Given the description of an element on the screen output the (x, y) to click on. 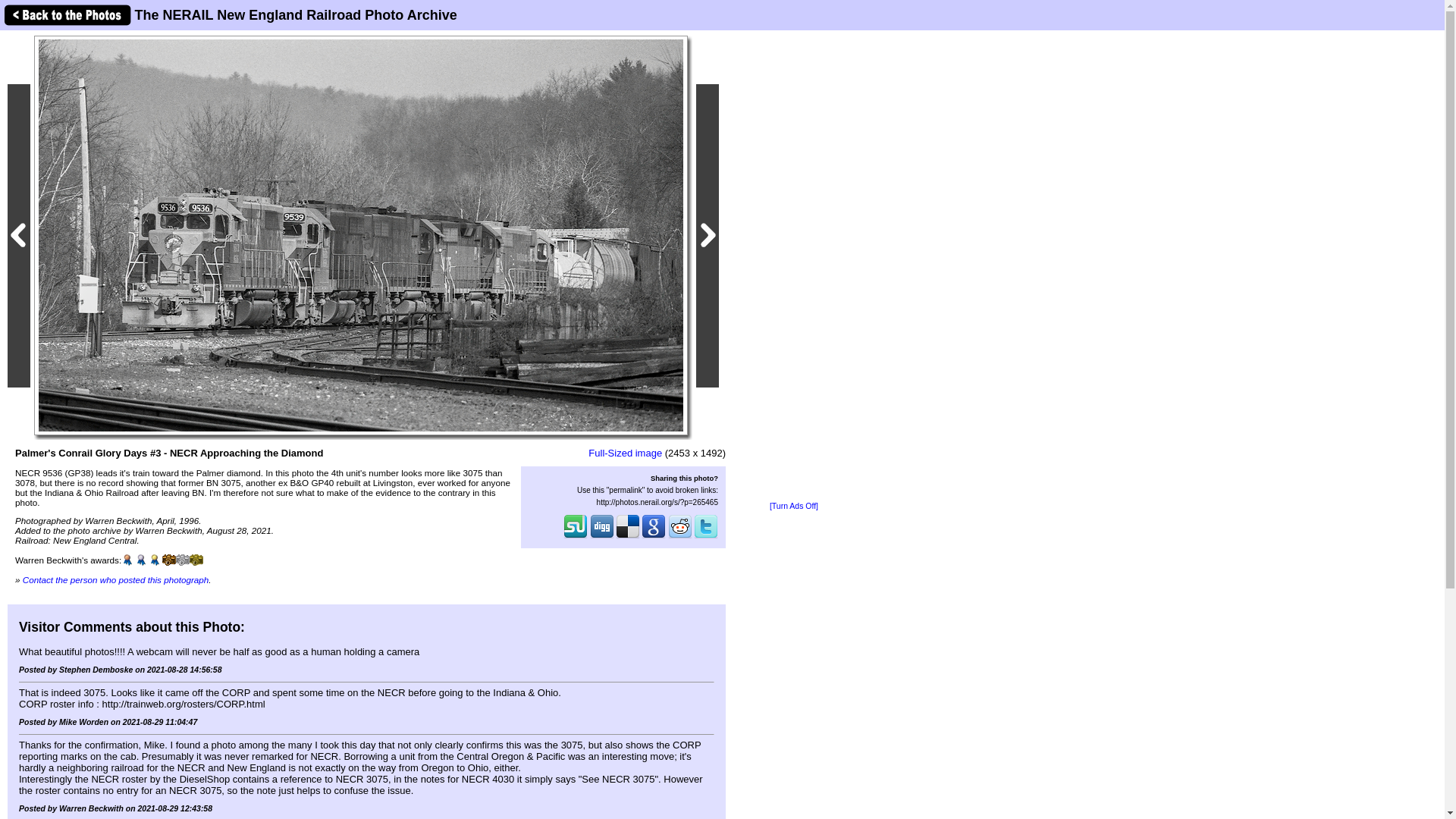
Submit to Stumble (575, 536)
Submit to Digg (601, 536)
Submit to Reddit (680, 536)
Contact the person who posted this photograph (116, 579)
Twit This (705, 536)
Submit to Google Bookmarks (653, 536)
Full-Sized image (625, 452)
Submit to Del.icio.us (627, 536)
